Given the description of an element on the screen output the (x, y) to click on. 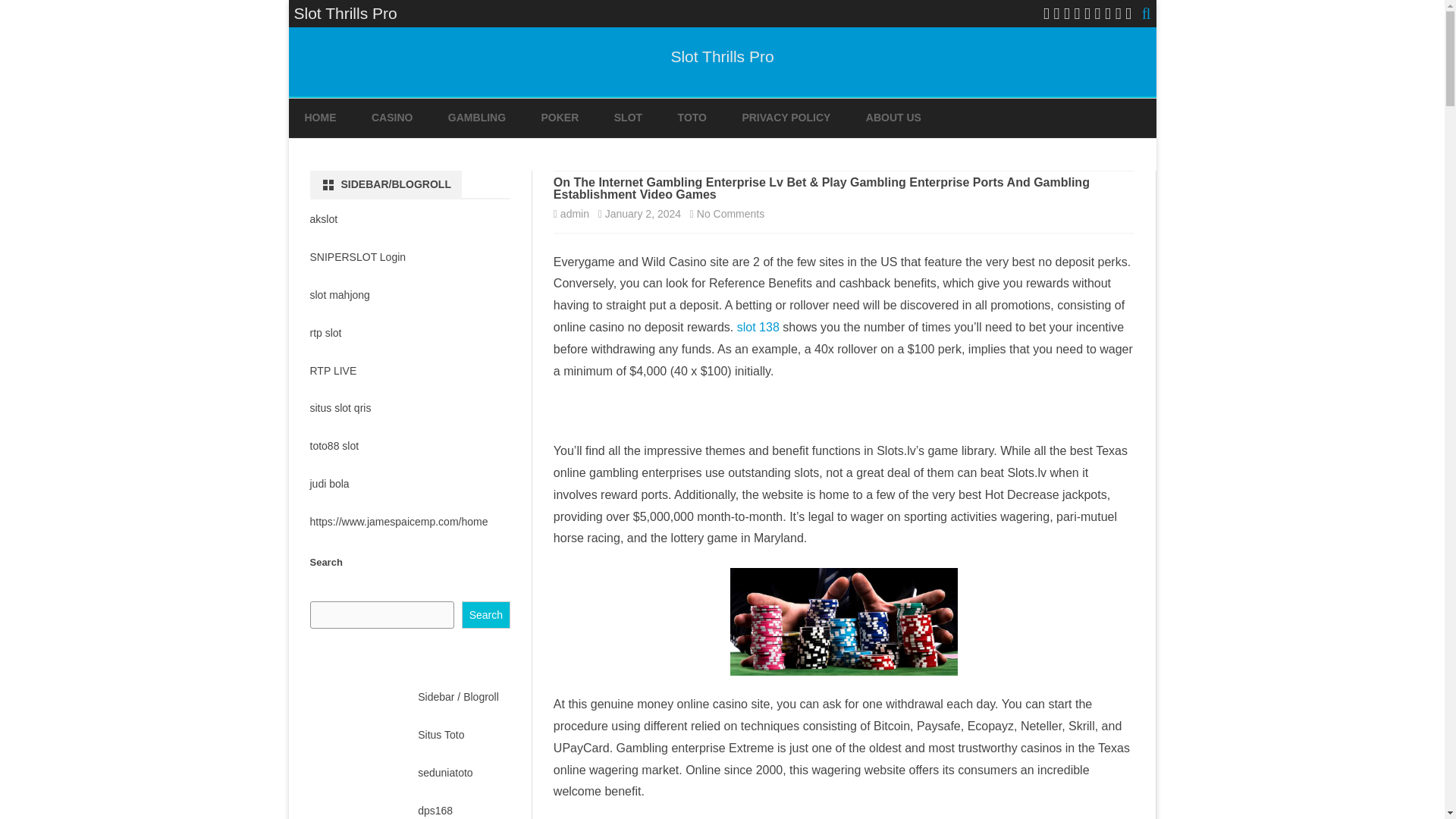
admin (574, 214)
ABOUT US (893, 118)
POKER (560, 118)
Slot Thrills Pro (721, 56)
GAMBLING (476, 118)
PRIVACY POLICY (785, 118)
CASINO (391, 118)
Skip to content (730, 214)
